Given the description of an element on the screen output the (x, y) to click on. 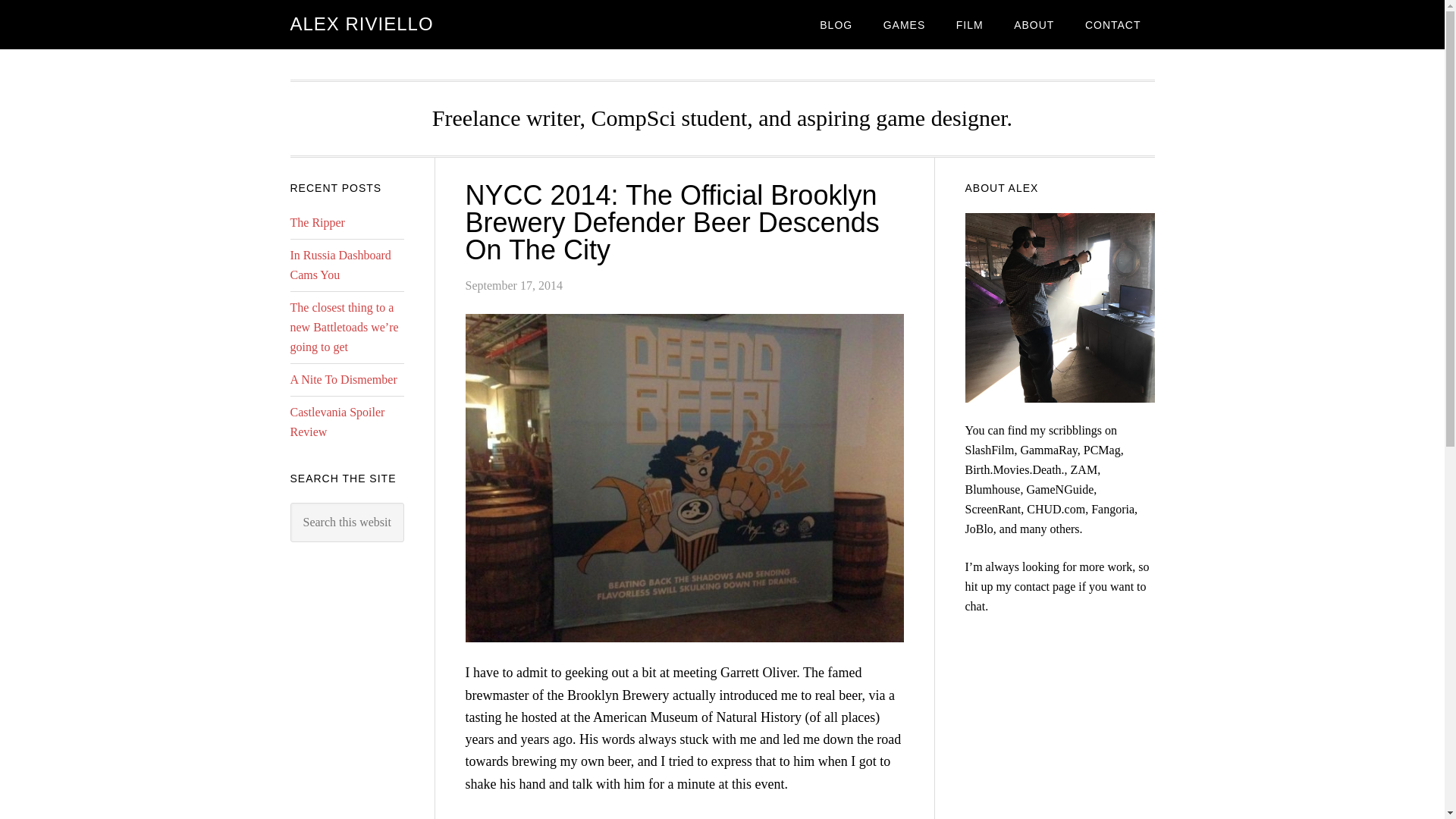
ALEX RIVIELLO (360, 23)
The Ripper (316, 222)
CONTACT (1112, 24)
In Russia Dashboard Cams You (339, 264)
ABOUT (1033, 24)
A Nite To Dismember (342, 379)
Castlevania Spoiler Review (336, 421)
FILM (969, 24)
BLOG (836, 24)
GAMES (904, 24)
